Given the description of an element on the screen output the (x, y) to click on. 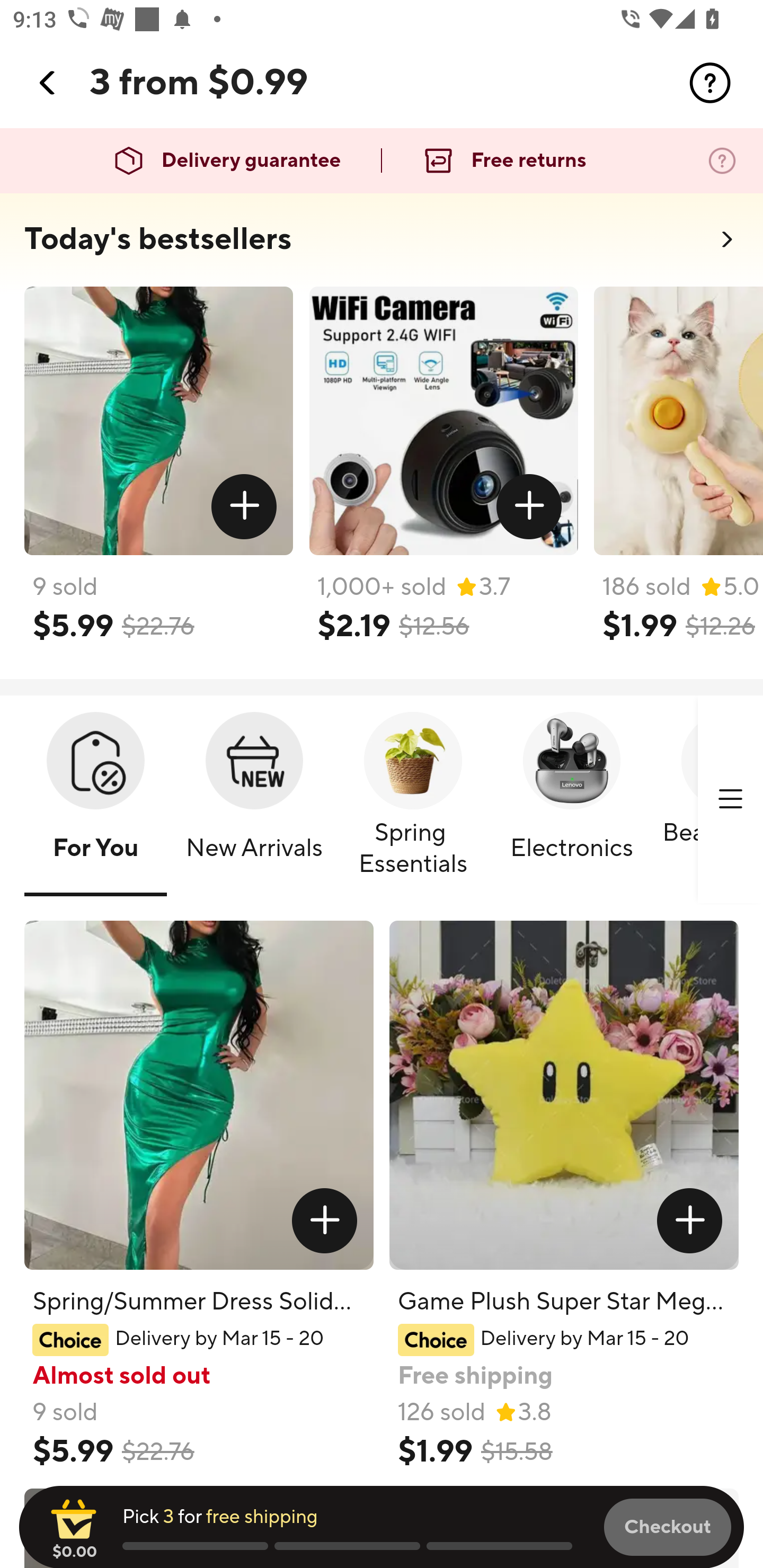
 (710, 82)
 (48, 82)
Today's bestsellers  Today's bestsellers  (381, 244)
Today's bestsellers (157, 239)
 (244, 506)
 (529, 506)
 (730, 799)
144x144.png_ For You (95, 800)
144x144.png_ New Arrivals (254, 800)
200x200.png_ Spring Essentials (412, 800)
300x300.png_ Electronics (571, 800)
 (323, 1220)
 (689, 1220)
